Given the description of an element on the screen output the (x, y) to click on. 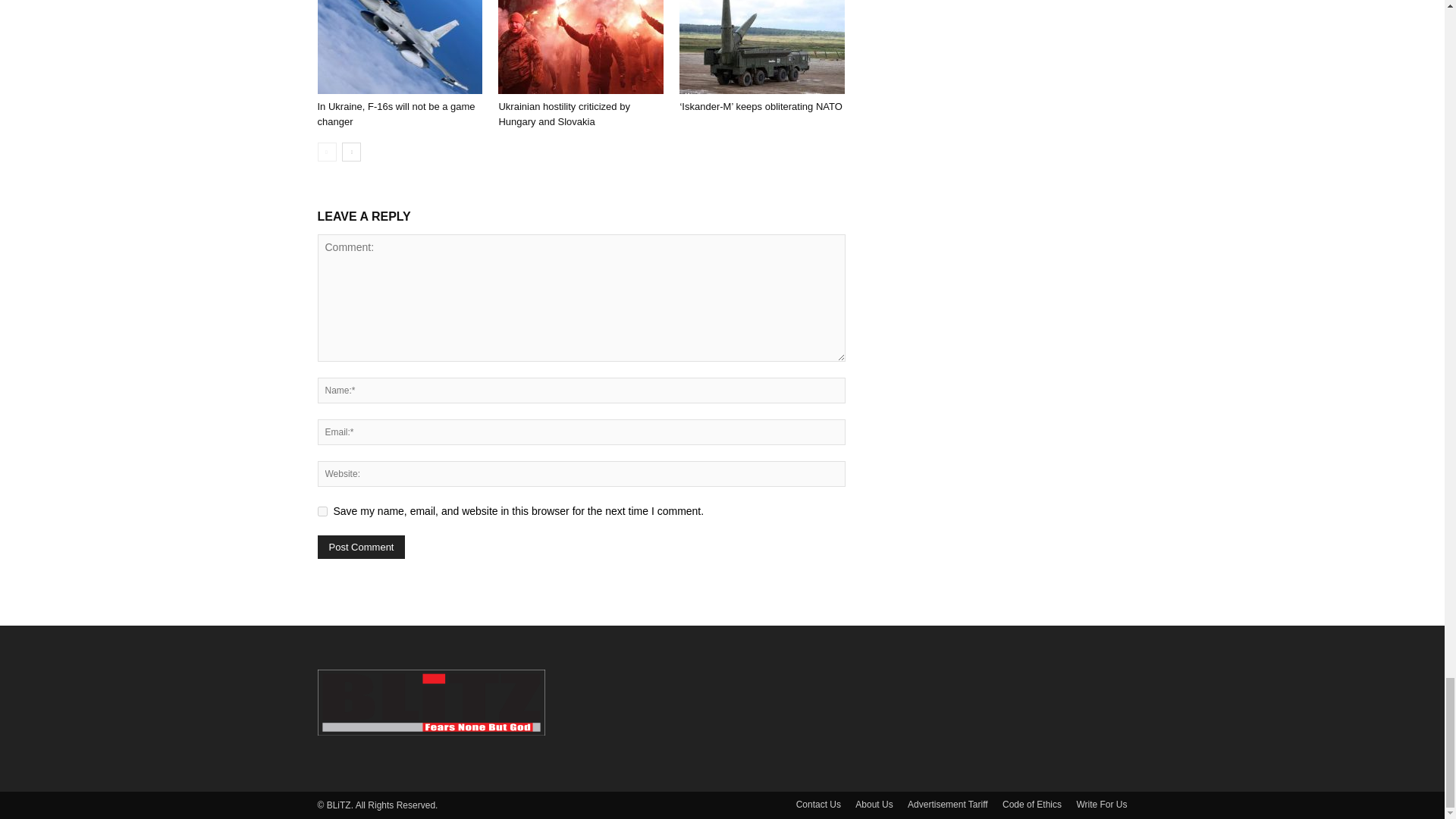
yes (321, 510)
Post Comment (360, 545)
